Given the description of an element on the screen output the (x, y) to click on. 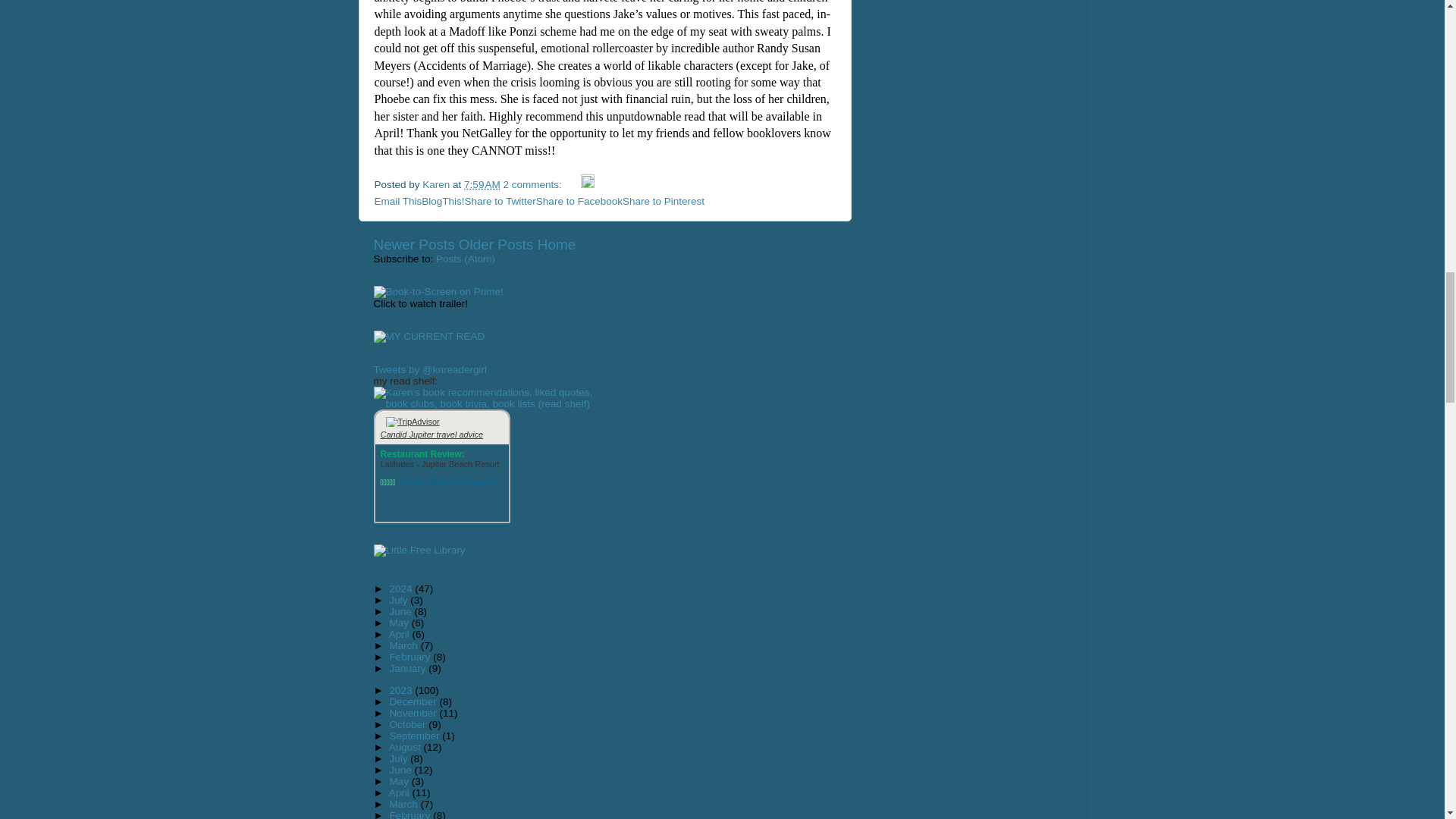
Karen (437, 184)
Email This (398, 201)
2 comments: (533, 184)
BlogThis! (443, 201)
Share to Facebook (579, 201)
Share to Pinterest (663, 201)
Share to Twitter (499, 201)
